Given the description of an element on the screen output the (x, y) to click on. 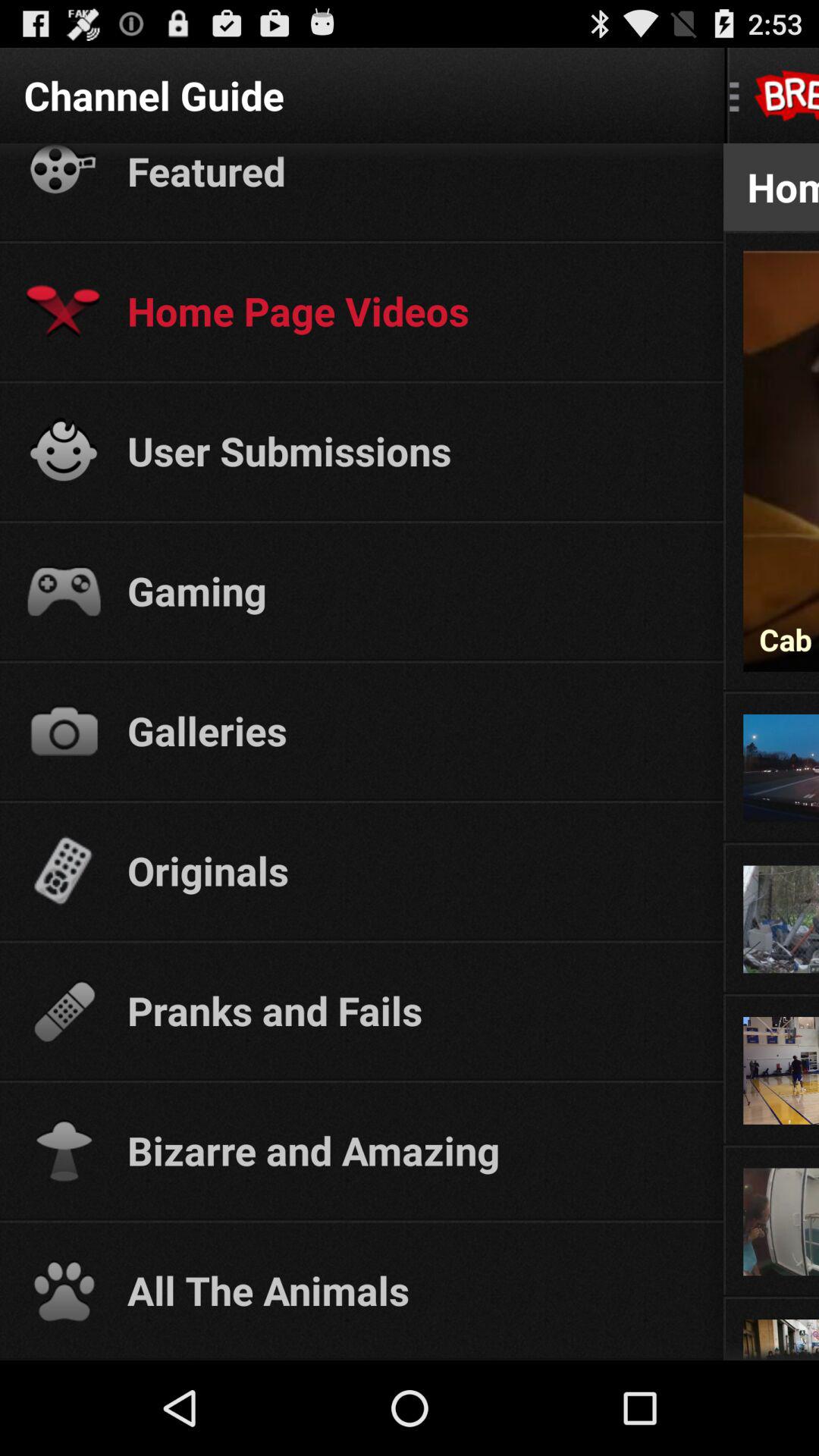
choose the originals (411, 870)
